Given the description of an element on the screen output the (x, y) to click on. 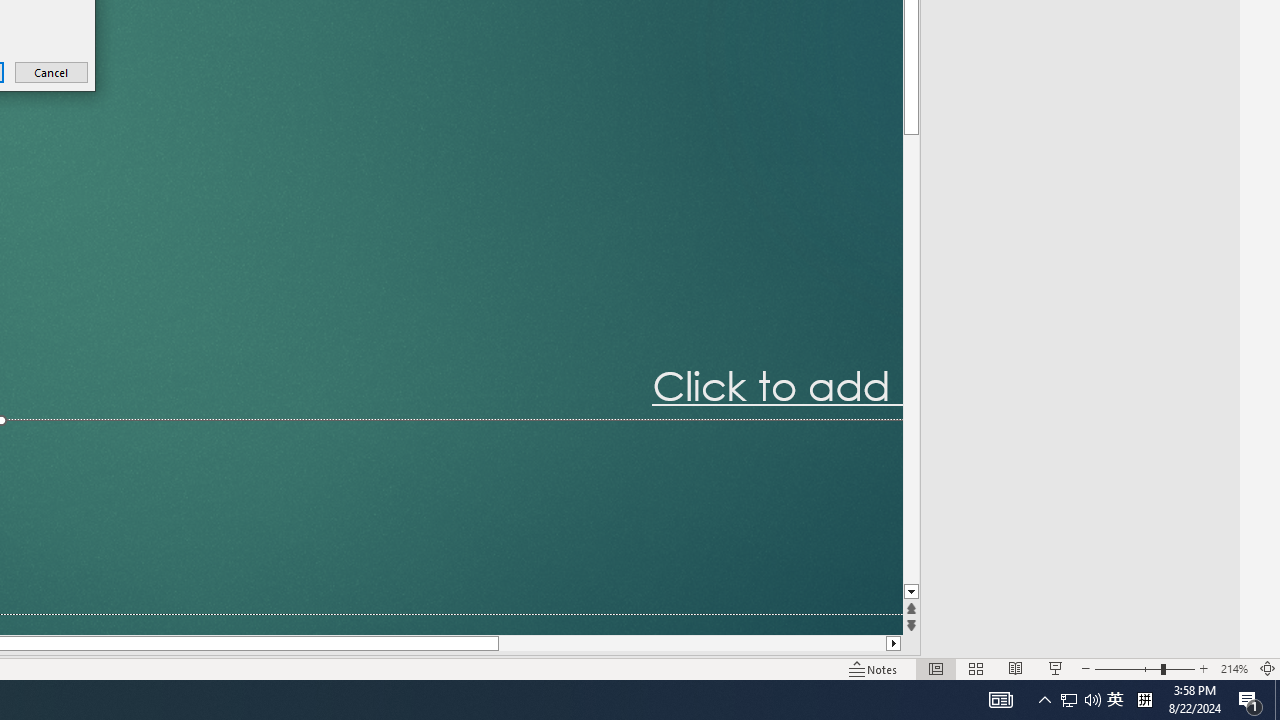
Action Center, 1 new notification (1250, 699)
Page down (911, 359)
